Given the description of an element on the screen output the (x, y) to click on. 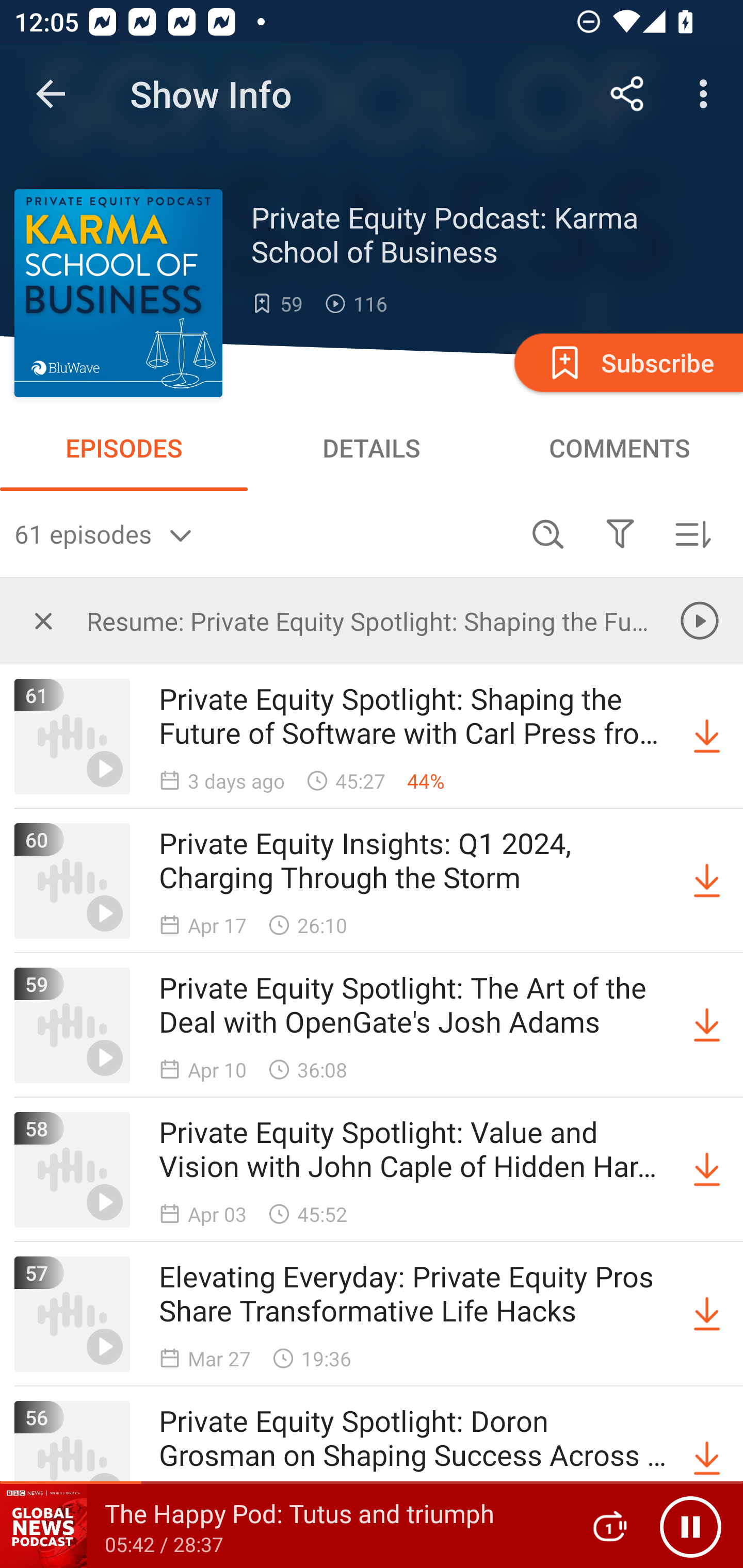
Navigate up (50, 93)
Share (626, 93)
More options (706, 93)
Subscribe (627, 361)
EPISODES (123, 447)
DETAILS (371, 447)
COMMENTS (619, 447)
61 episodes  (262, 533)
 Search (547, 533)
 (619, 533)
 Sorted by newest first (692, 533)
 (43, 620)
Download (706, 736)
Download (706, 881)
Download (706, 1025)
Download (706, 1169)
Download (706, 1313)
Download (706, 1458)
The Happy Pod: Tutus and triumph 05:42 / 28:37 (283, 1525)
Pause (690, 1526)
